Given the description of an element on the screen output the (x, y) to click on. 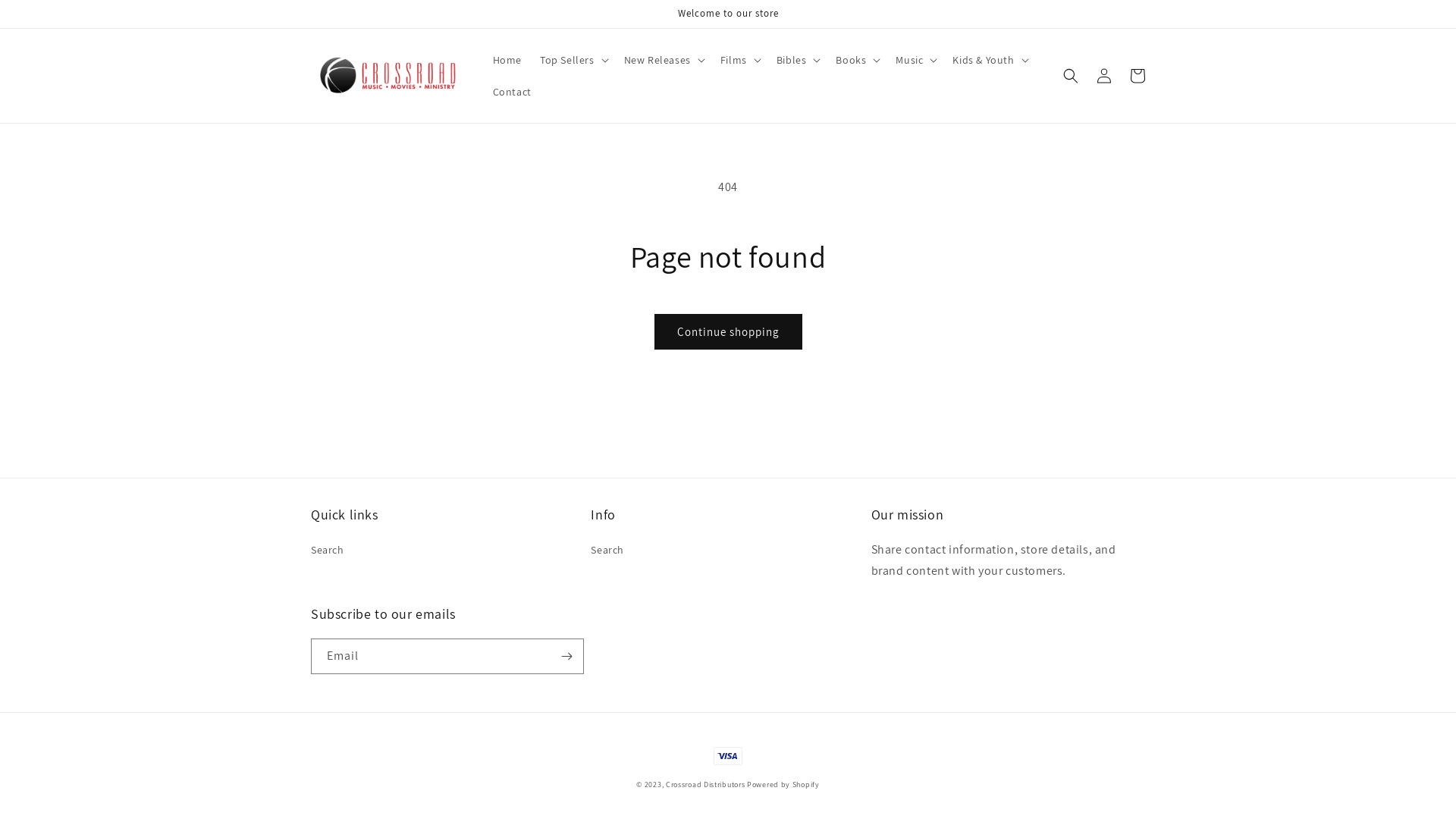
Continue shopping Element type: text (727, 331)
Powered by Shopify Element type: text (782, 784)
Home Element type: text (506, 59)
Contact Element type: text (511, 91)
Search Element type: text (327, 551)
Search Element type: text (607, 551)
Cart Element type: text (1137, 75)
Log in Element type: text (1103, 75)
Crossroad Distributors Element type: text (704, 784)
